Given the description of an element on the screen output the (x, y) to click on. 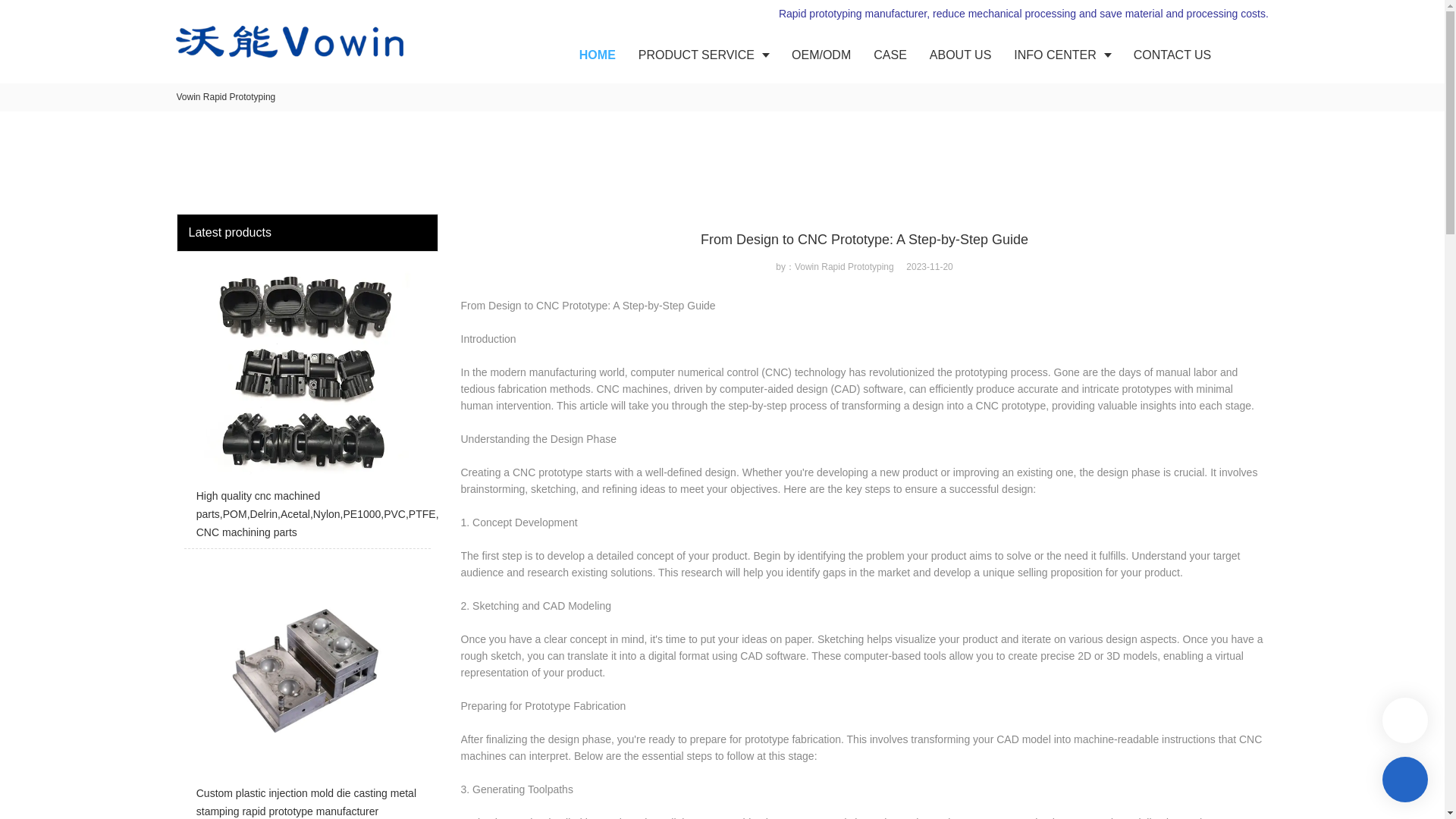
INFO CENTER (1062, 55)
Vowin Rapid Prototyping (225, 96)
CASE (889, 55)
PRODUCT SERVICE (703, 55)
CONTACT US (1172, 55)
HOME (597, 55)
ABOUT US (960, 55)
